Given the description of an element on the screen output the (x, y) to click on. 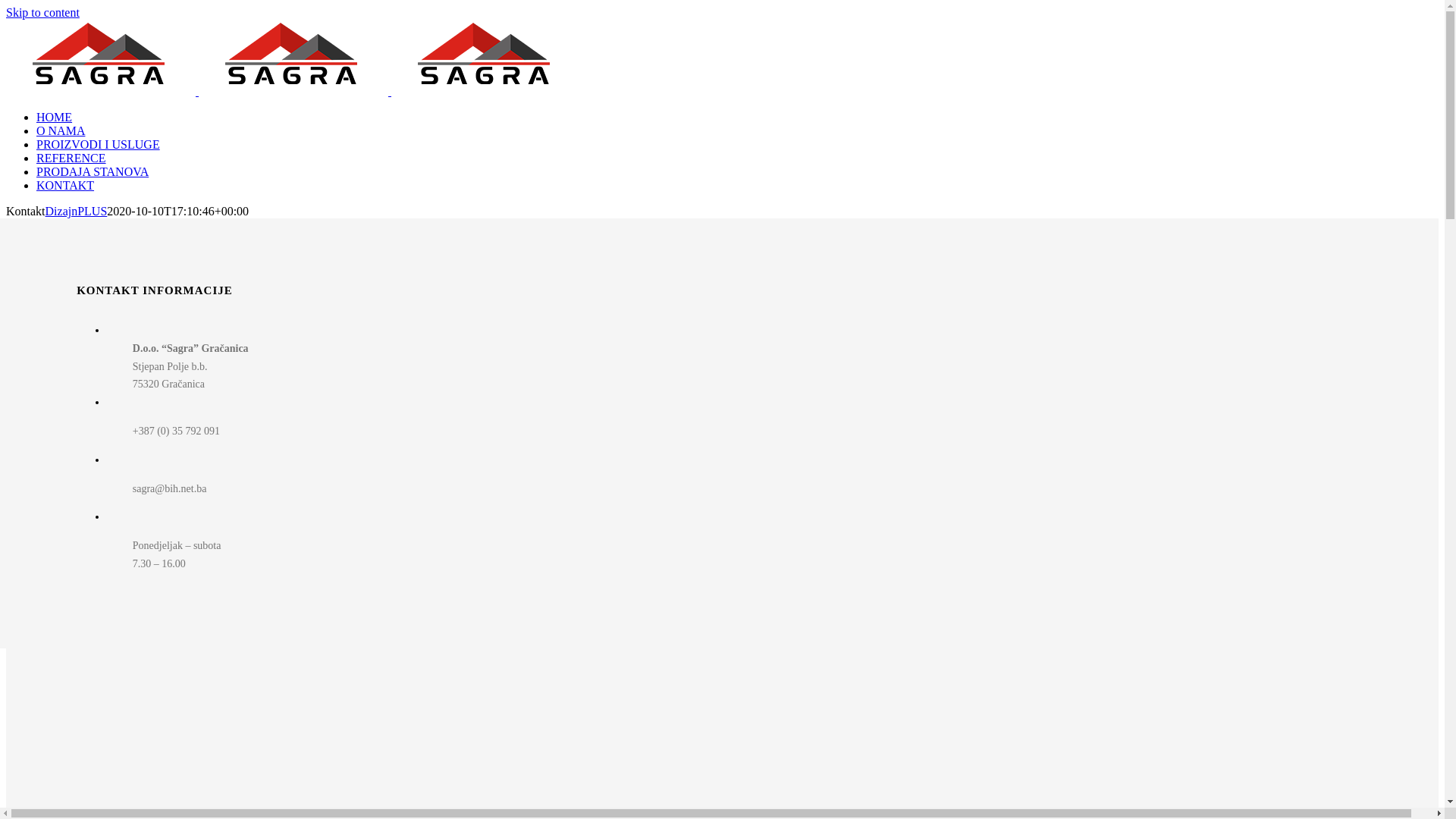
PRODAJA STANOVA Element type: text (101, 171)
HOME Element type: text (62, 116)
DizajnPLUS Element type: text (76, 210)
KONTAKT Element type: text (65, 184)
PROIZVODI I USLUGE Element type: text (106, 144)
Skip to content Element type: text (42, 12)
REFERENCE Element type: text (79, 157)
O NAMA Element type: text (69, 130)
